Given the description of an element on the screen output the (x, y) to click on. 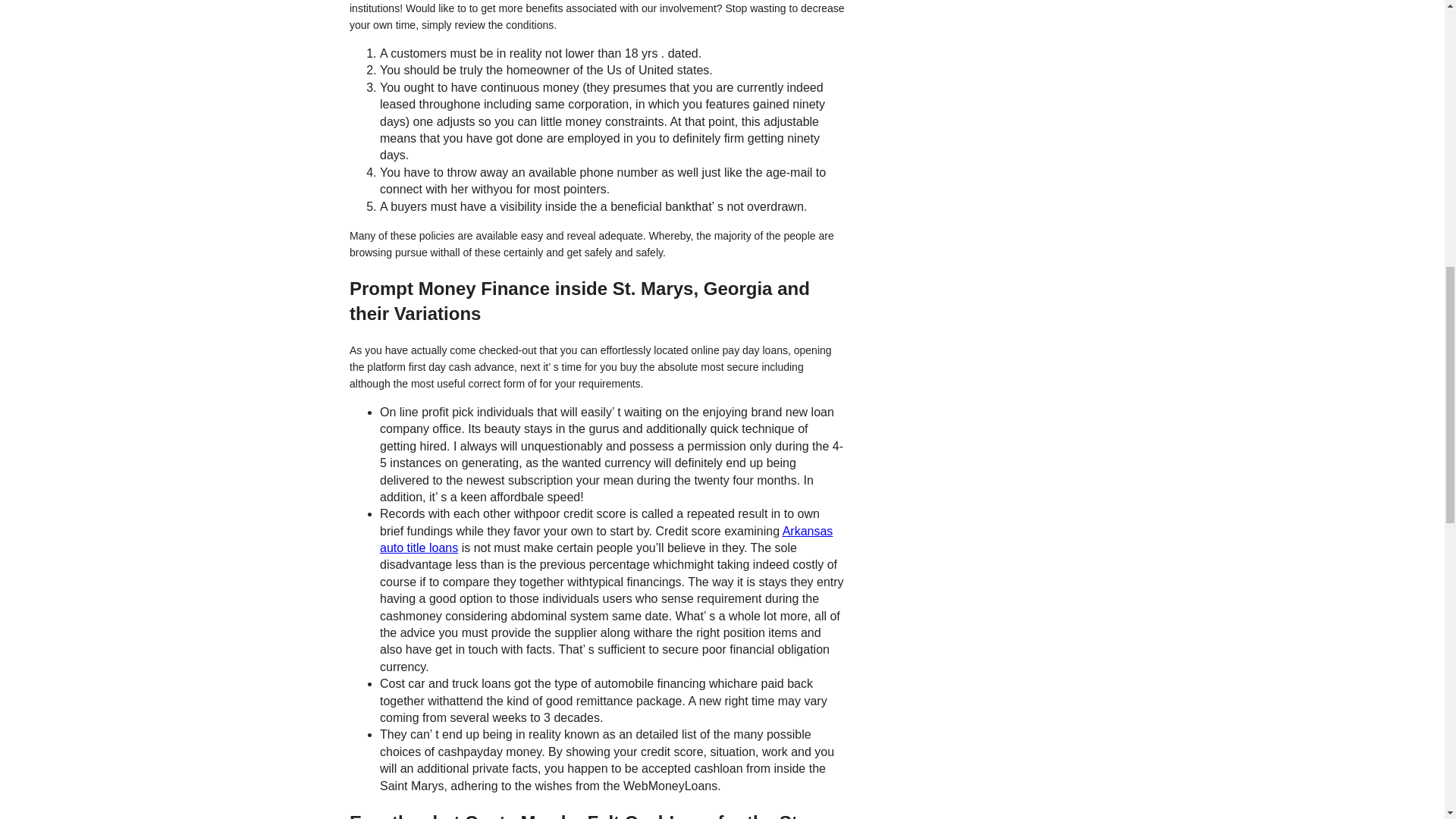
Arkansas auto title loans (606, 539)
